Given the description of an element on the screen output the (x, y) to click on. 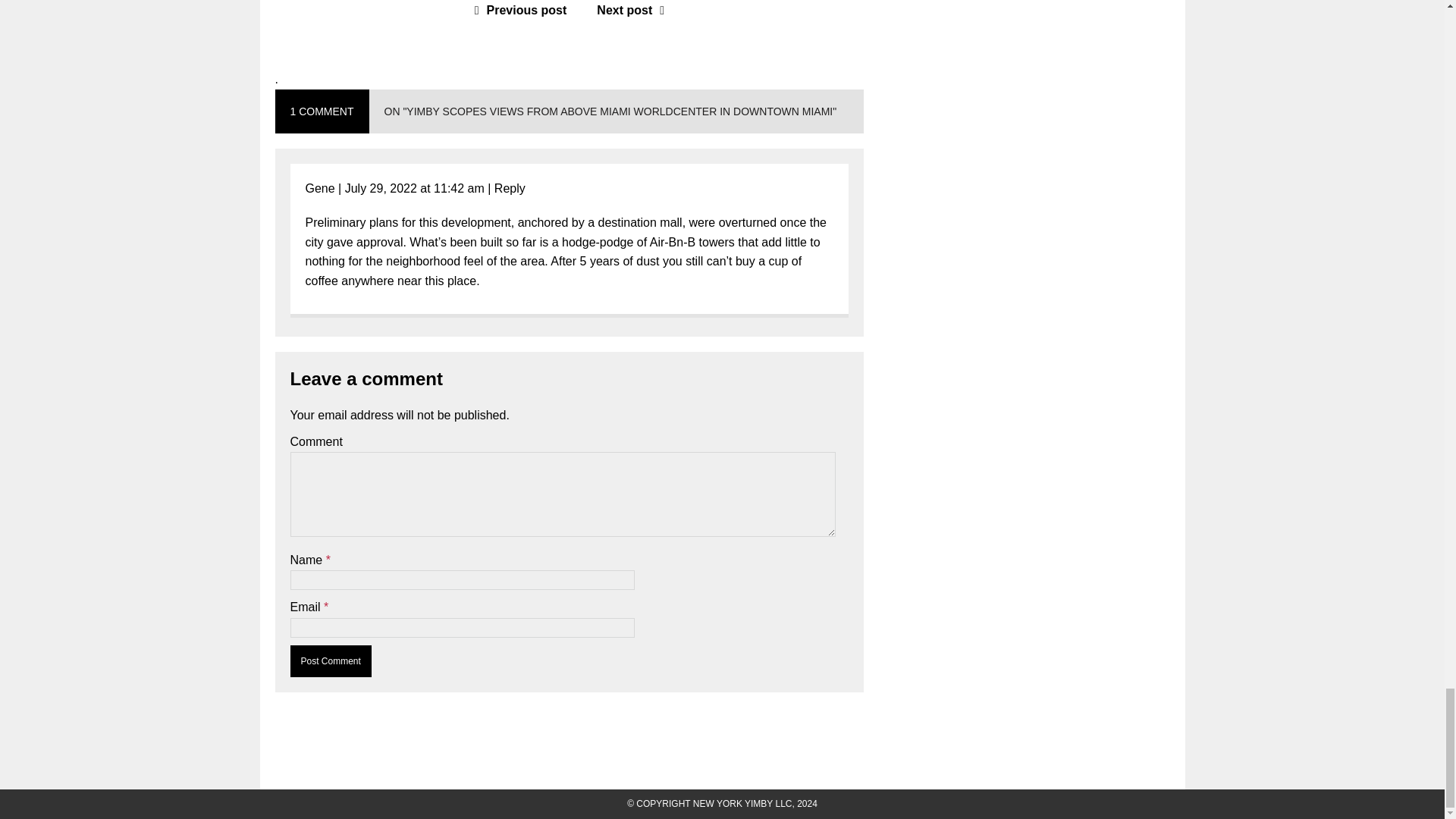
Next post (633, 10)
Previous post (517, 10)
July 29, 2022 at 11:42 am (414, 187)
Reply (510, 187)
Post Comment (330, 661)
Post Comment (330, 661)
